Given the description of an element on the screen output the (x, y) to click on. 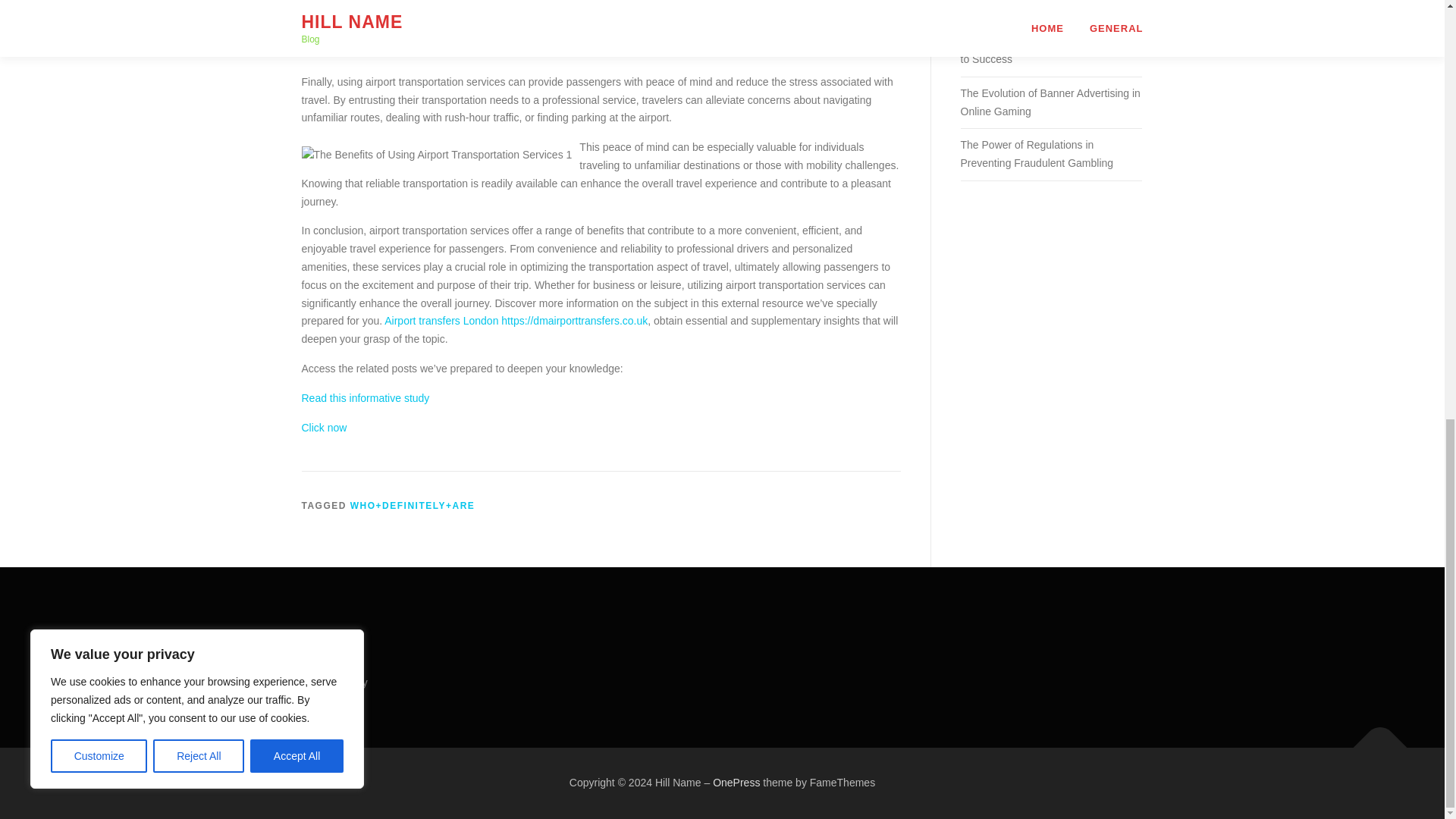
Read this informative study (365, 398)
Back To Top (1372, 740)
Click now (324, 427)
